Given the description of an element on the screen output the (x, y) to click on. 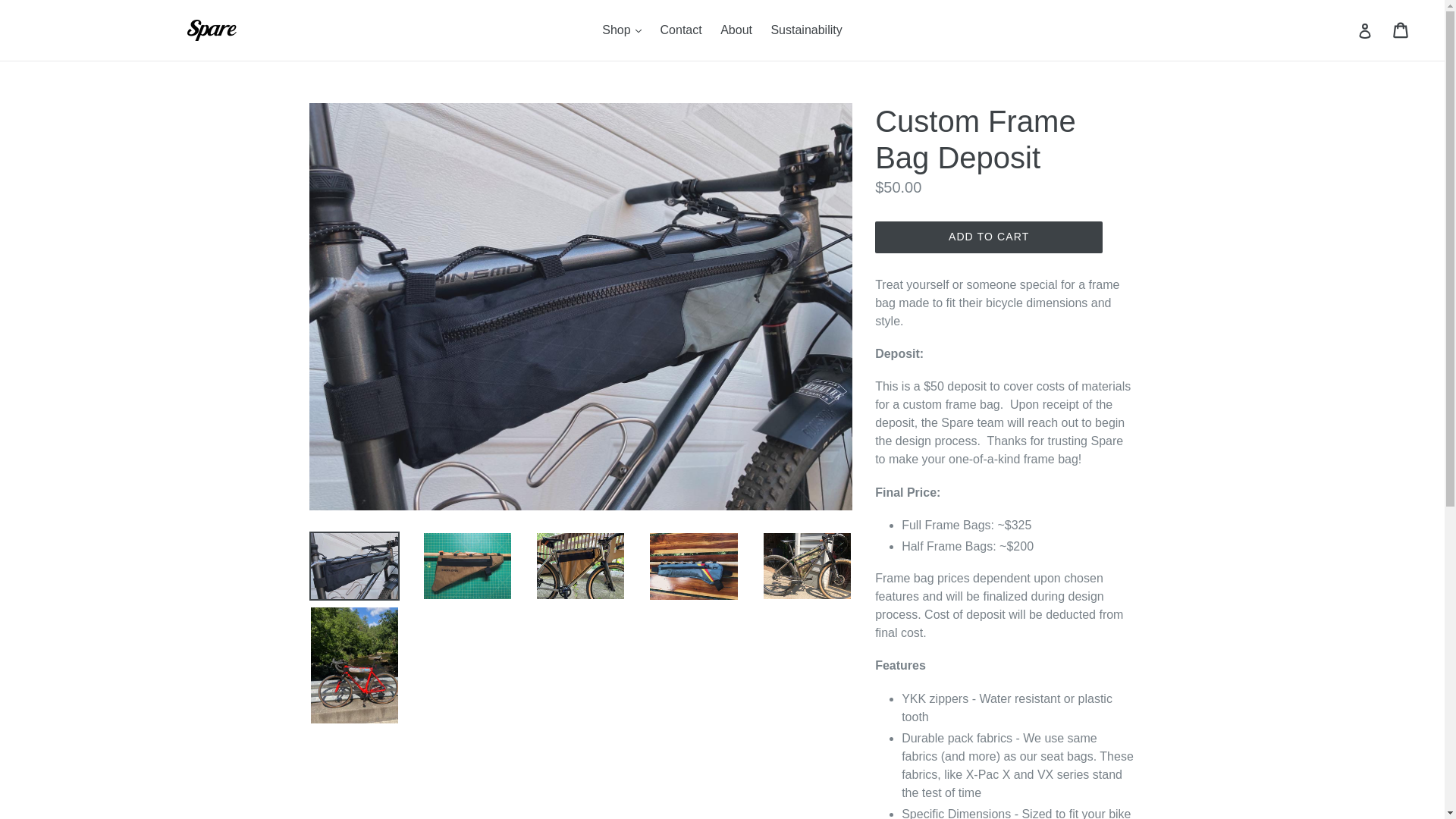
About (736, 29)
Sustainability (805, 29)
ADD TO CART (988, 237)
Log in (1364, 30)
Contact (1401, 30)
